Given the description of an element on the screen output the (x, y) to click on. 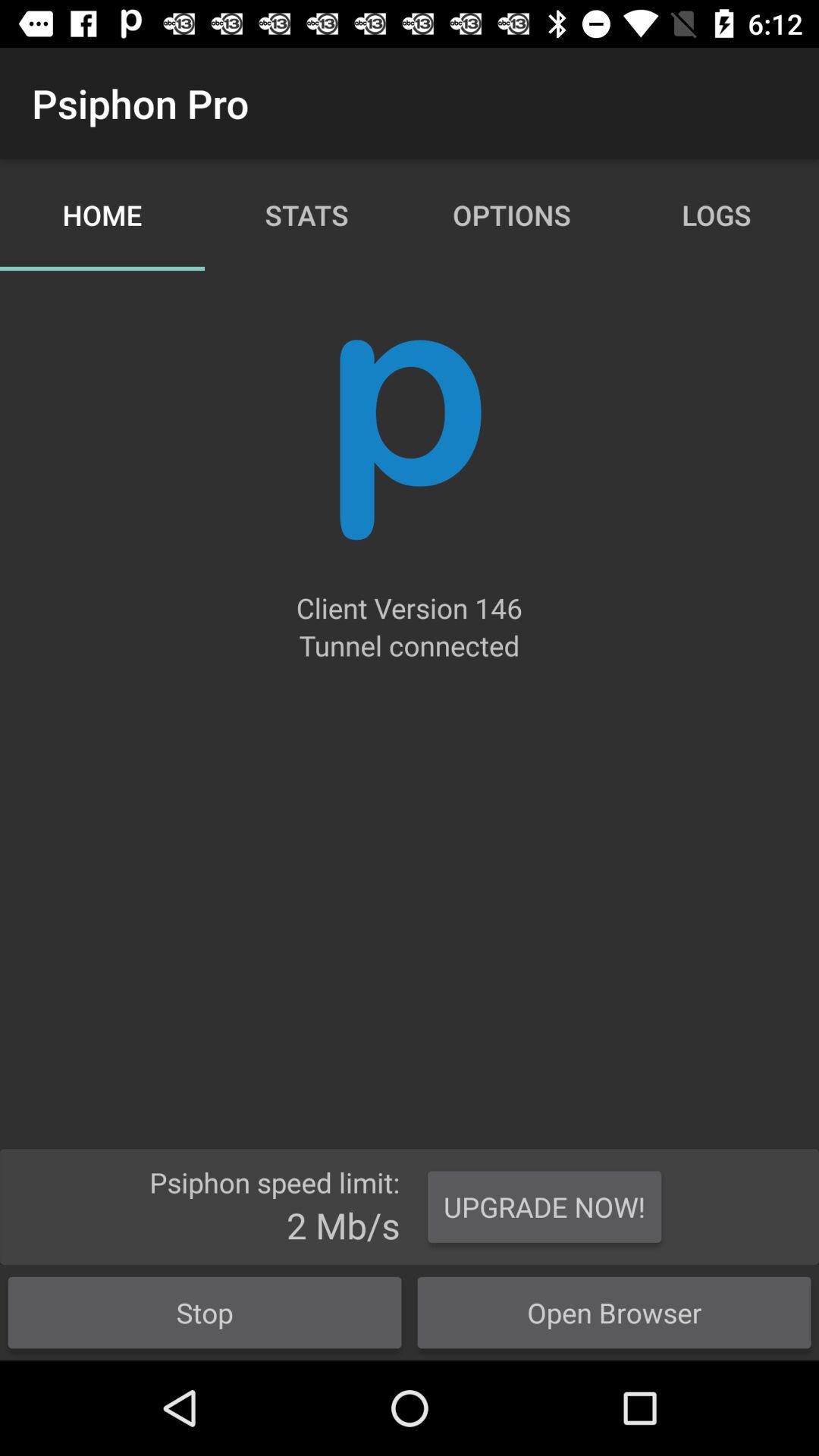
tap button to the right of the stop icon (544, 1206)
